Given the description of an element on the screen output the (x, y) to click on. 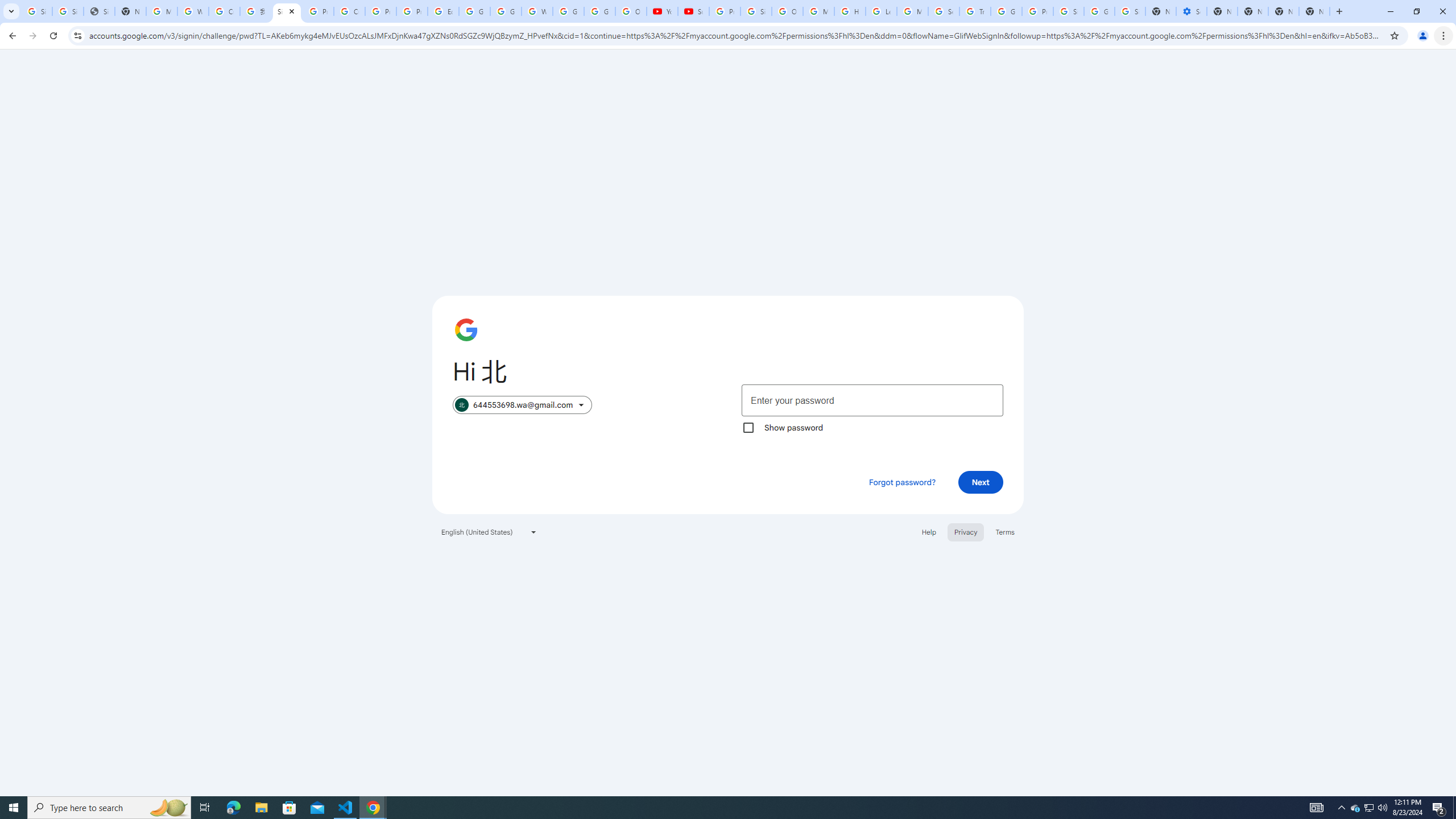
Enter your password (871, 399)
Google Slides: Sign-in (474, 11)
Sign in - Google Accounts (1129, 11)
